Given the description of an element on the screen output the (x, y) to click on. 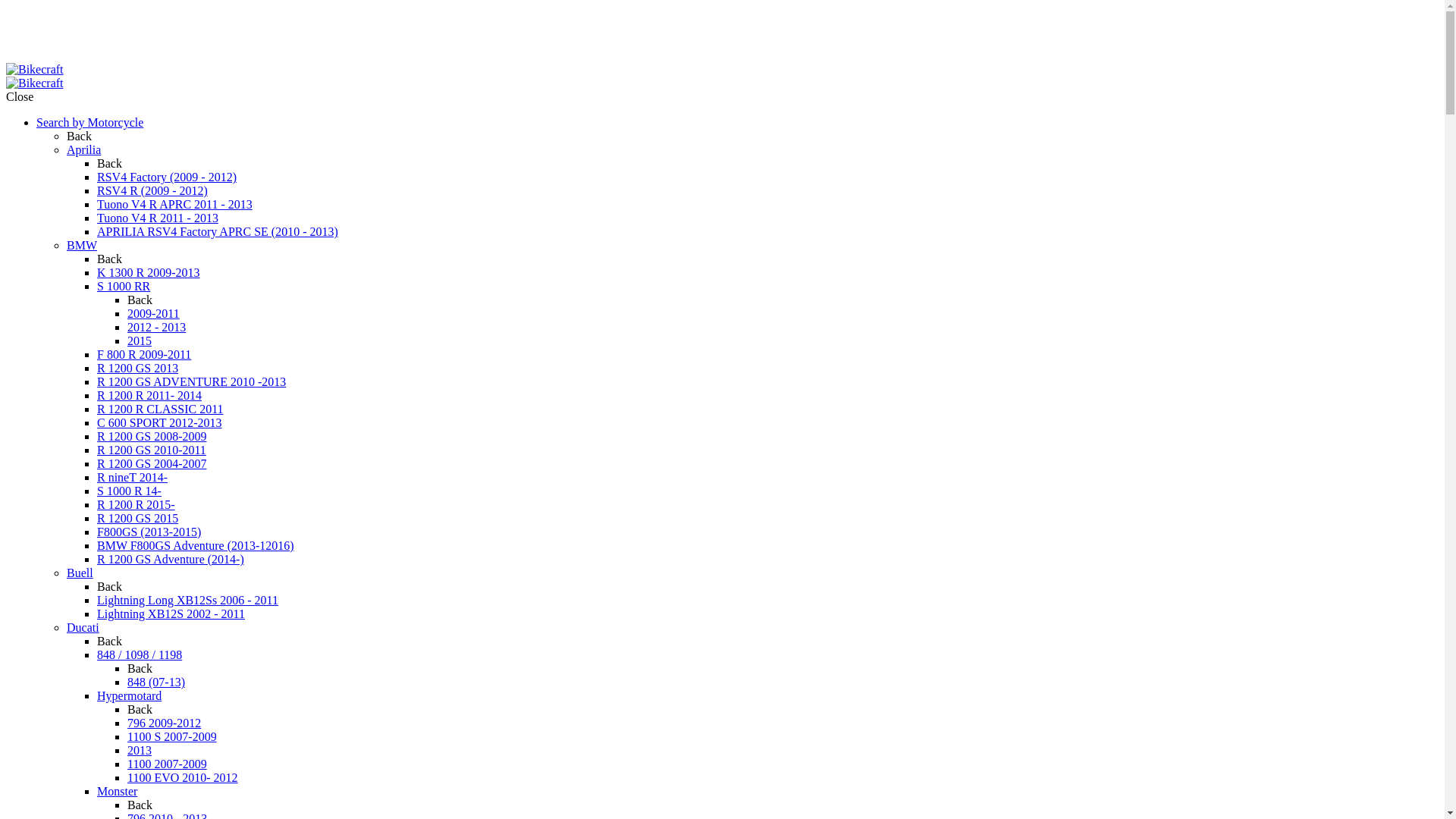
1100 EVO 2010- 2012 Element type: text (182, 777)
R 1200 GS 2013 Element type: text (137, 367)
R 1200 GS 2004-2007 Element type: text (151, 463)
2015 Element type: text (139, 340)
R 1200 GS ADVENTURE 2010 -2013 Element type: text (191, 381)
2012 - 2013 Element type: text (156, 326)
2013 Element type: text (139, 749)
848 / 1098 / 1198 Element type: text (139, 654)
BMW Element type: text (81, 244)
F 800 R 2009-2011 Element type: text (144, 354)
C 600 SPORT 2012-2013 Element type: text (159, 422)
S 1000 RR Element type: text (123, 285)
BMW F800GS Adventure (2013-12016) Element type: text (195, 545)
796 2009-2012 Element type: text (163, 722)
S 1000 R 14- Element type: text (129, 490)
R 1200 GS Adventure (2014-) Element type: text (170, 558)
Lightning XB12S 2002 - 2011 Element type: text (170, 613)
Tuono V4 R 2011 - 2013 Element type: text (157, 217)
K 1300 R 2009-2013 Element type: text (148, 272)
RSV4 R (2009 - 2012) Element type: text (152, 190)
Ducati Element type: text (82, 627)
1100 2007-2009 Element type: text (167, 763)
RSV4 Factory (2009 - 2012) Element type: text (166, 176)
Hypermotard Element type: text (129, 695)
APRILIA RSV4 Factory APRC SE (2010 - 2013) Element type: text (217, 231)
Buell Element type: text (79, 572)
Monster Element type: text (117, 790)
1100 S 2007-2009 Element type: text (171, 736)
Lightning Long XB12Ss 2006 - 2011 Element type: text (187, 599)
R 1200 R CLASSIC 2011 Element type: text (160, 408)
2009-2011 Element type: text (153, 313)
R 1200 R 2015- Element type: text (136, 504)
R 1200 GS 2010-2011 Element type: text (151, 449)
R 1200 GS 2015 Element type: text (137, 517)
Aprilia Element type: text (83, 149)
R nineT 2014- Element type: text (132, 476)
Search by Motorcycle Element type: text (89, 122)
R 1200 GS 2008-2009 Element type: text (151, 435)
R 1200 R 2011- 2014 Element type: text (149, 395)
848 (07-13) Element type: text (156, 681)
F800GS (2013-2015) Element type: text (148, 531)
Tuono V4 R APRC 2011 - 2013 Element type: text (174, 203)
